Given the description of an element on the screen output the (x, y) to click on. 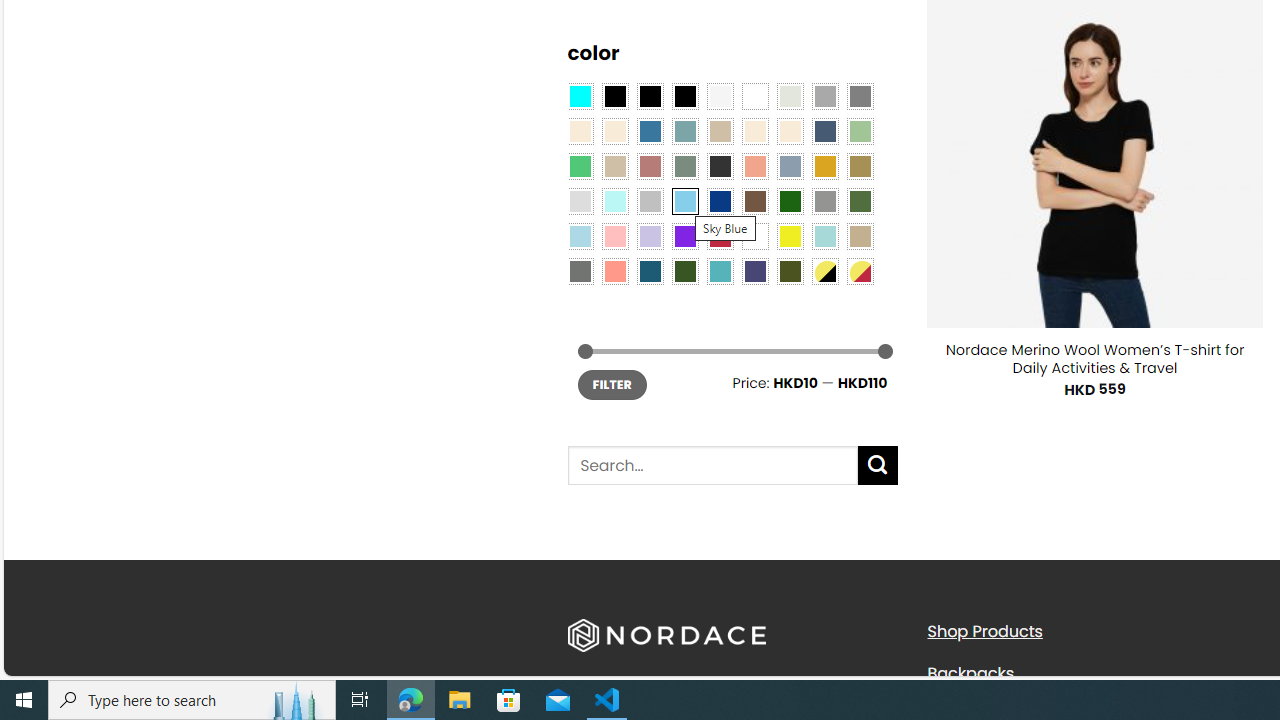
Dusty Blue (789, 165)
Red (719, 236)
Submit (877, 465)
Light Blue (579, 236)
Search for: (712, 465)
Green (859, 200)
Cream (789, 131)
Army Green (789, 270)
FILTER (612, 384)
Black (650, 95)
Khaki (859, 236)
Caramel (755, 131)
Blue Sage (684, 131)
Coral (755, 165)
